Given the description of an element on the screen output the (x, y) to click on. 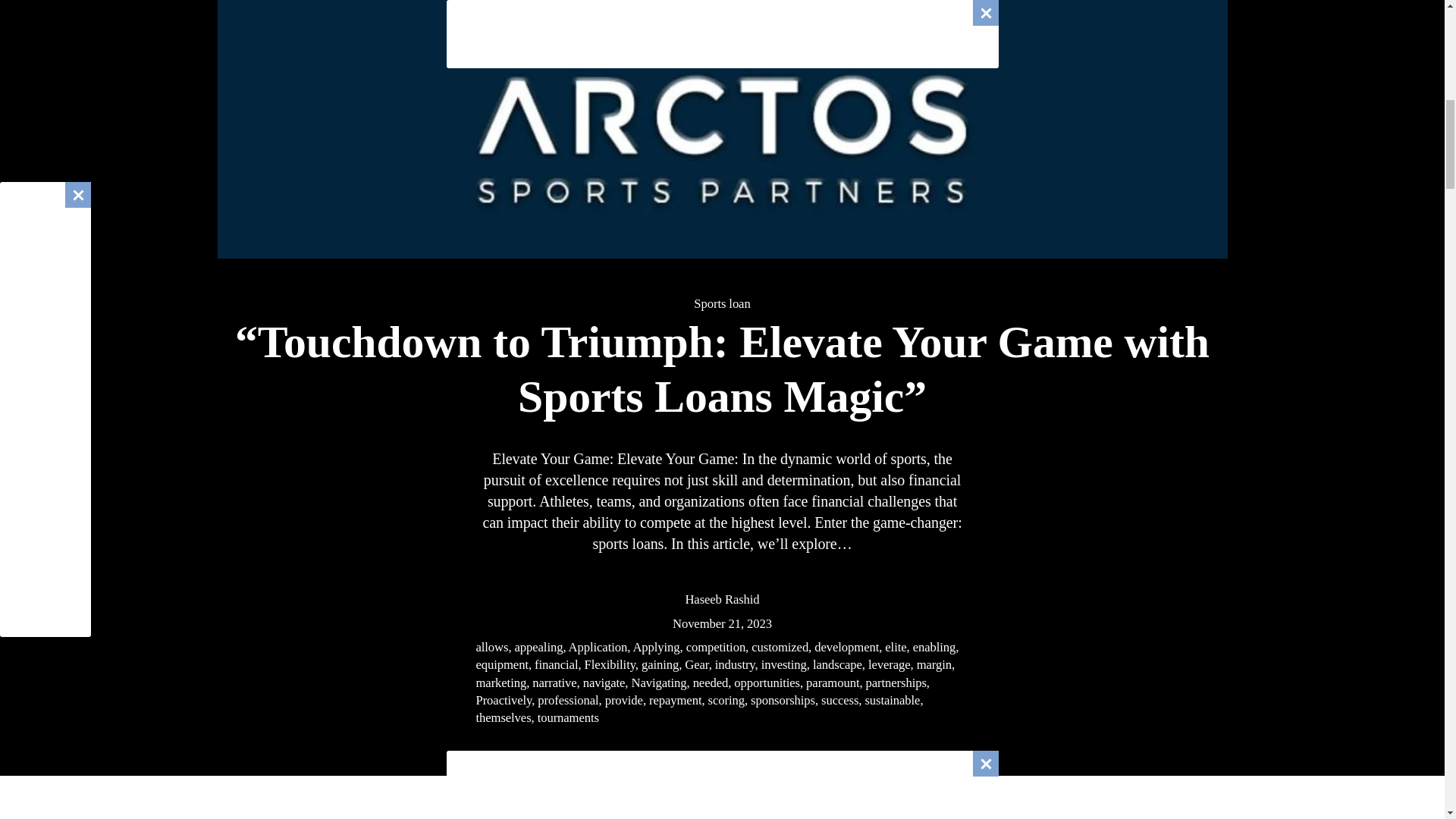
enabling (934, 646)
financial (556, 664)
development (846, 646)
elite (895, 646)
Haseeb Rashid (721, 599)
Application (598, 646)
Sports loan (721, 303)
landscape (836, 664)
industry (734, 664)
equipment (502, 664)
